Given the description of an element on the screen output the (x, y) to click on. 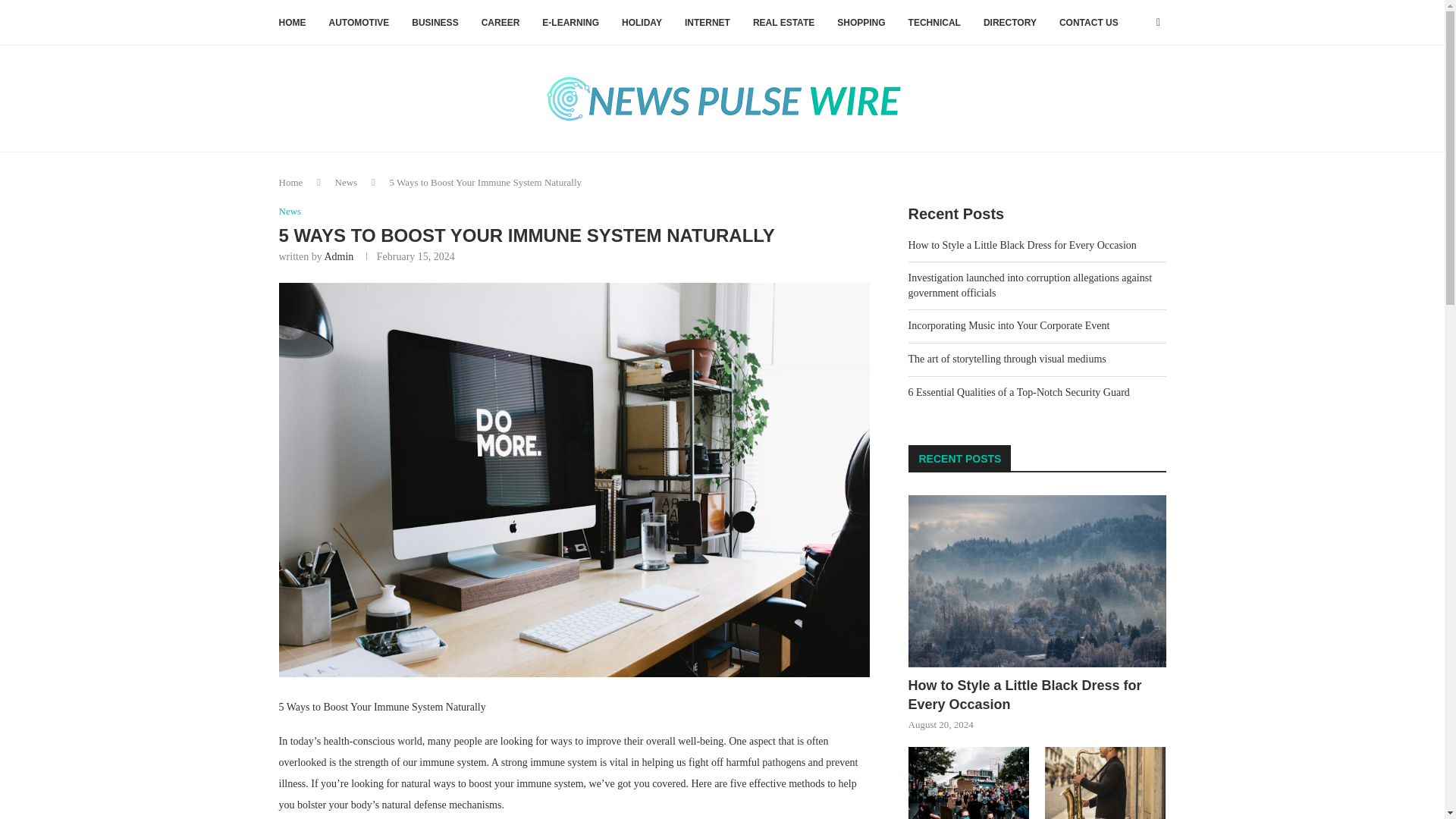
Home (290, 182)
INTERNET (707, 22)
News (346, 182)
AUTOMOTIVE (359, 22)
HOLIDAY (641, 22)
Admin (338, 256)
BUSINESS (435, 22)
REAL ESTATE (782, 22)
CONTACT US (1088, 22)
News (290, 211)
